Given the description of an element on the screen output the (x, y) to click on. 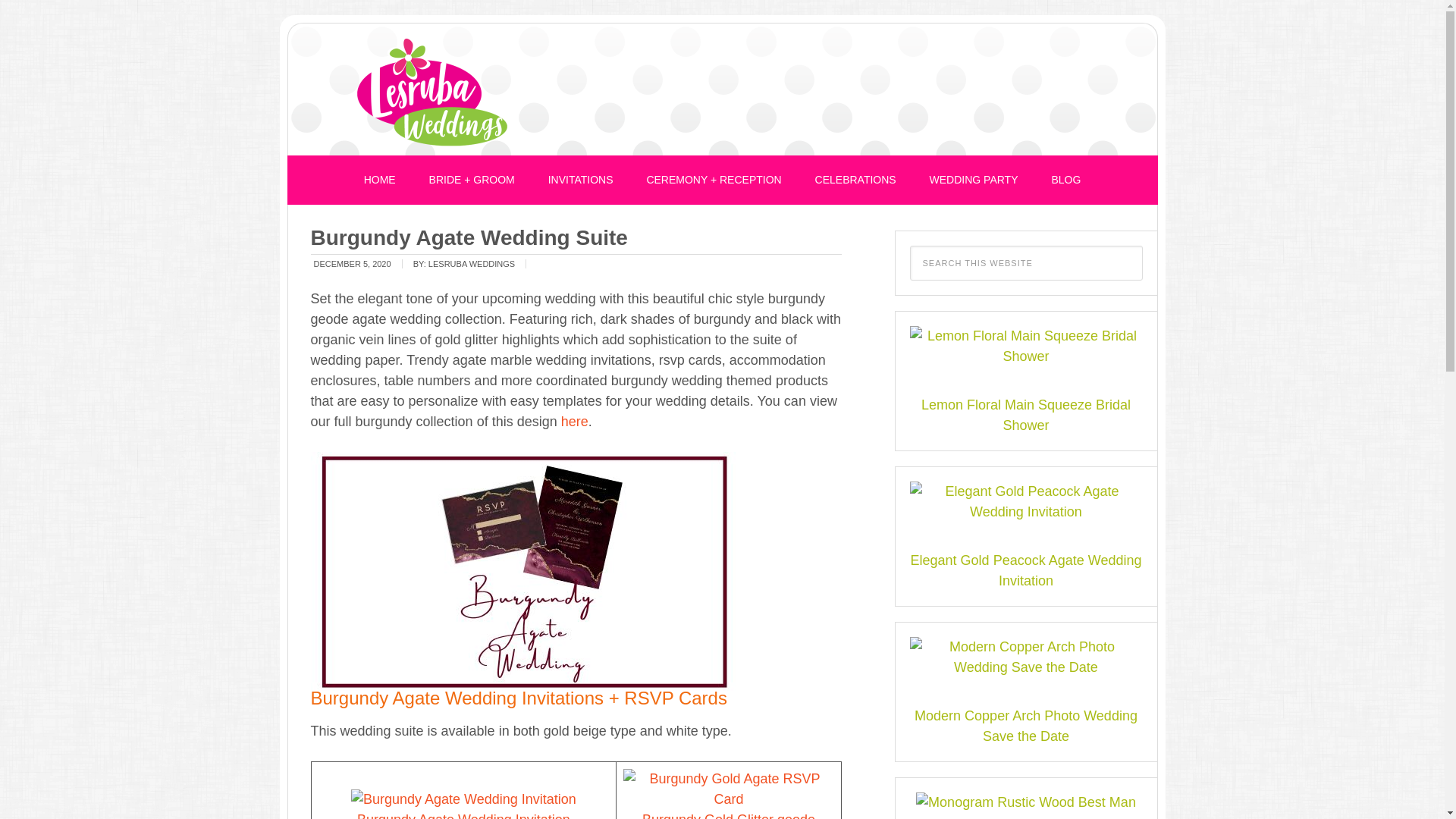
INVITATIONS (580, 179)
Lesruba Weddings (432, 93)
CELEBRATIONS (855, 179)
WEDDING PARTY (973, 179)
HOME (379, 179)
